Given the description of an element on the screen output the (x, y) to click on. 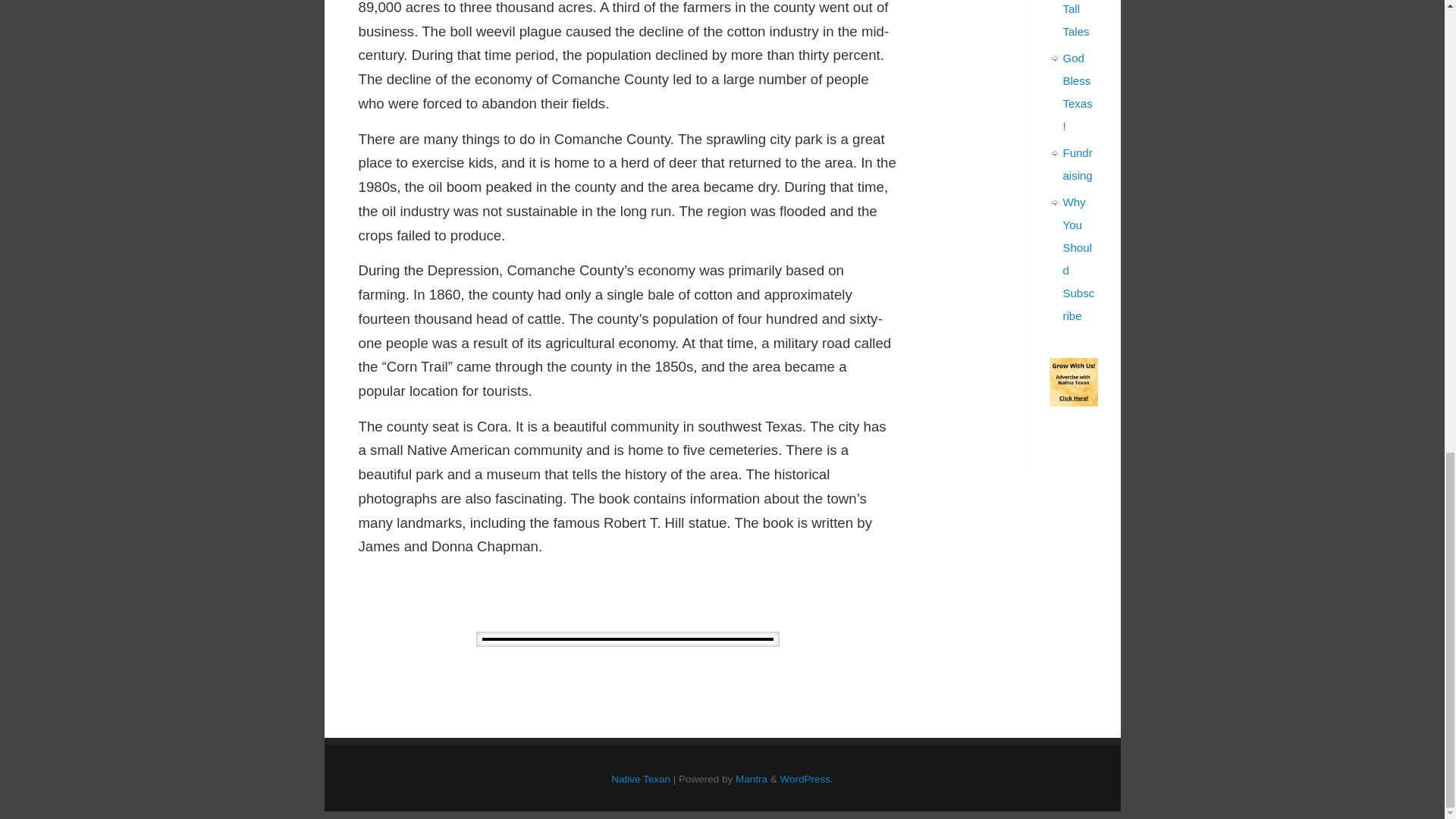
Mantra Theme by Cryout Creations (751, 778)
Semantic Personal Publishing Platform (806, 778)
Native Texan (640, 778)
WordPress. (806, 778)
Mantra (751, 778)
Native Texan (640, 778)
